Given the description of an element on the screen output the (x, y) to click on. 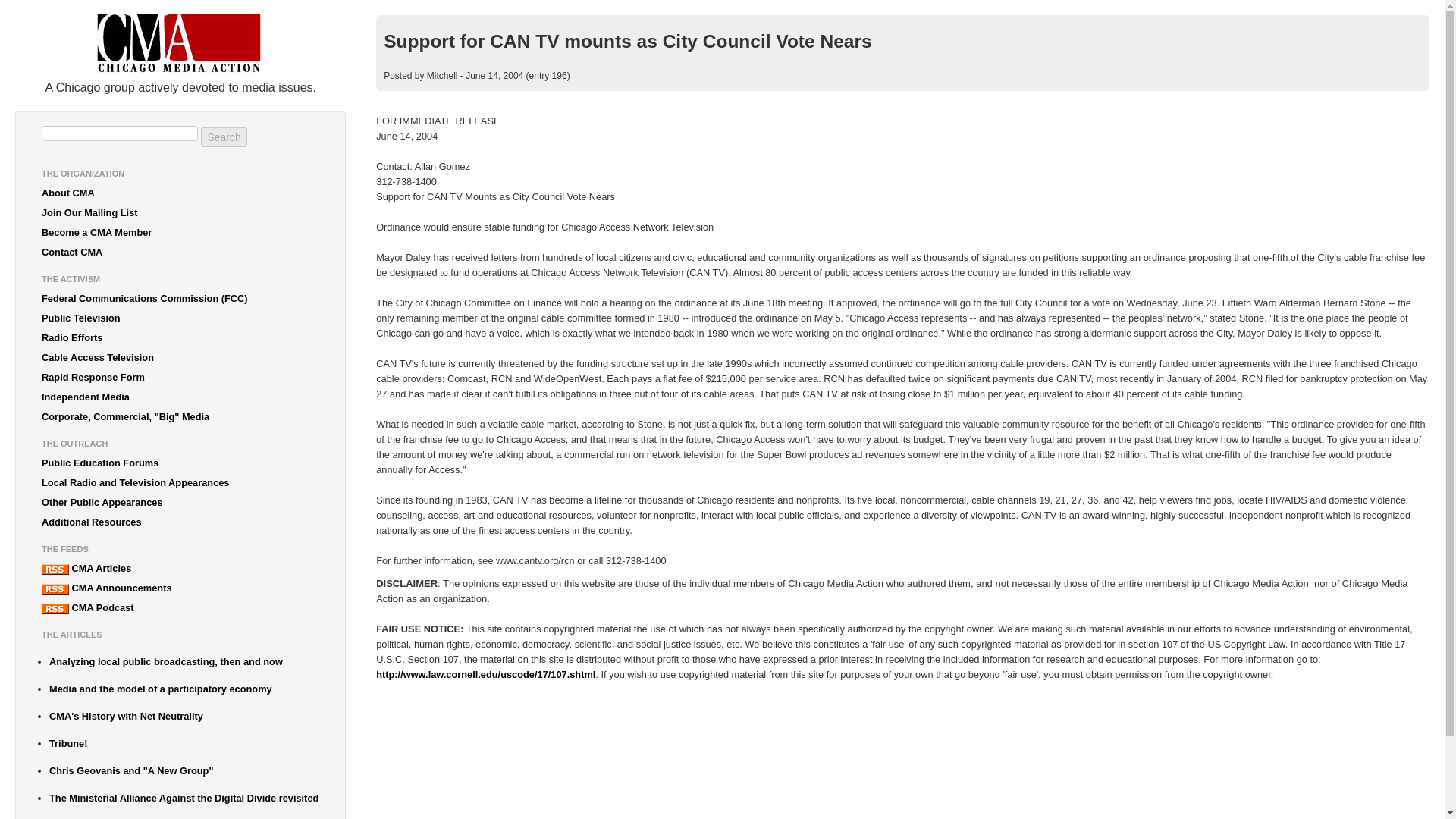
Media and the model of a participatory economy (183, 689)
CMA Articles (180, 568)
Cable Access Television (180, 357)
Tribune! (183, 743)
Independent Media (180, 397)
Contact CMA (180, 252)
Local Radio and Television Appearances (180, 483)
Join Our Mailing List (180, 212)
Additional Resources (180, 522)
Chris Geovanis and "A New Group" (183, 771)
Search (223, 137)
Become a CMA Member (180, 232)
About CMA (180, 193)
CMA Announcements (180, 588)
